Given the description of an element on the screen output the (x, y) to click on. 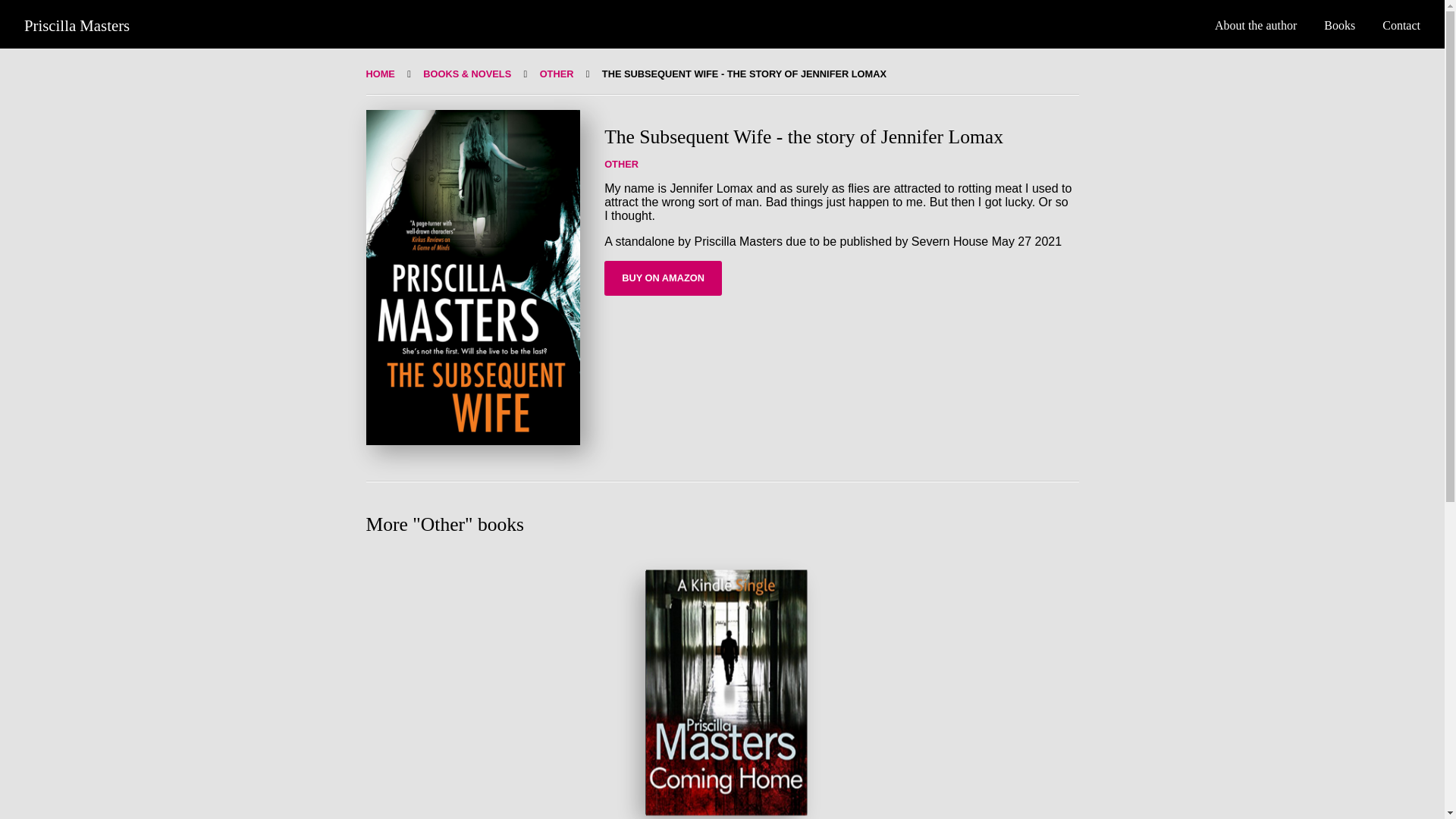
Contact (1401, 24)
Priscilla Masters (76, 25)
About the author (1255, 24)
HOME (379, 73)
OTHER (556, 73)
OTHER (621, 163)
Books (1339, 24)
BUY ON AMAZON (663, 278)
